Given the description of an element on the screen output the (x, y) to click on. 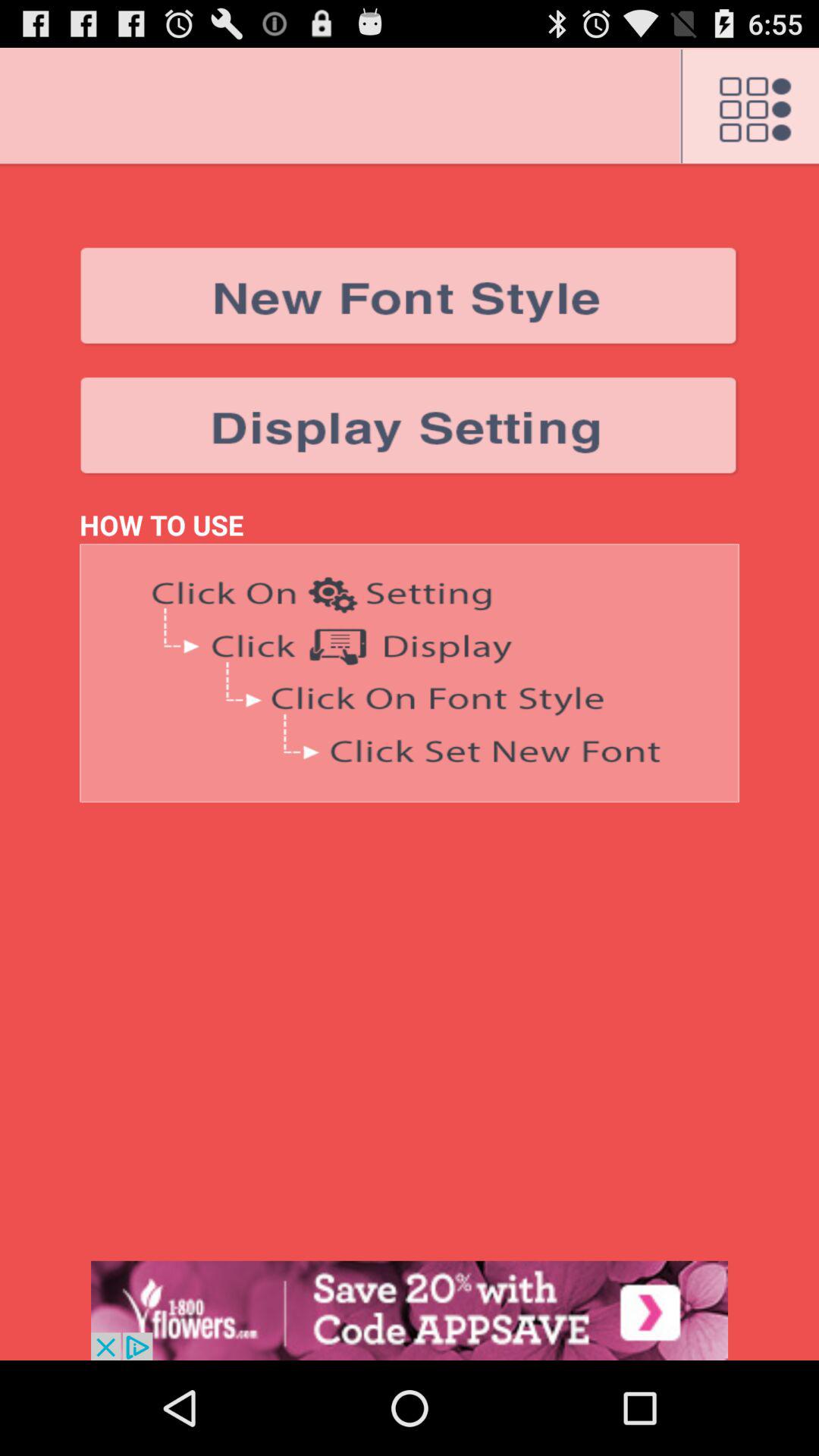
display advertisement (409, 1310)
